Given the description of an element on the screen output the (x, y) to click on. 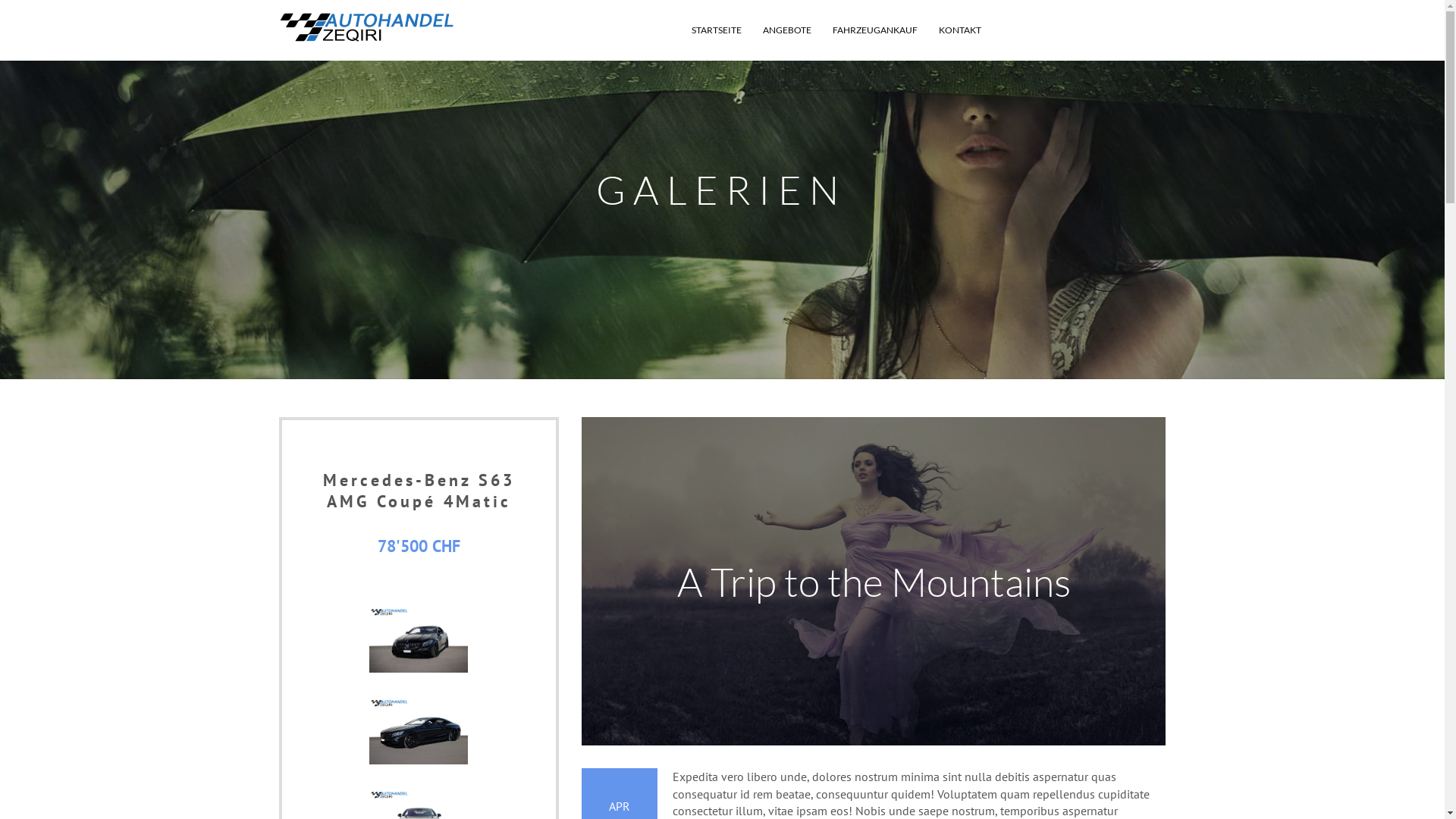
STARTSEITE Element type: text (716, 30)
A Trip to the Mountains Element type: text (873, 581)
ANGEBOTE Element type: text (786, 30)
FAHRZEUGANKAUF Element type: text (874, 30)
KONTAKT Element type: text (959, 30)
